Given the description of an element on the screen output the (x, y) to click on. 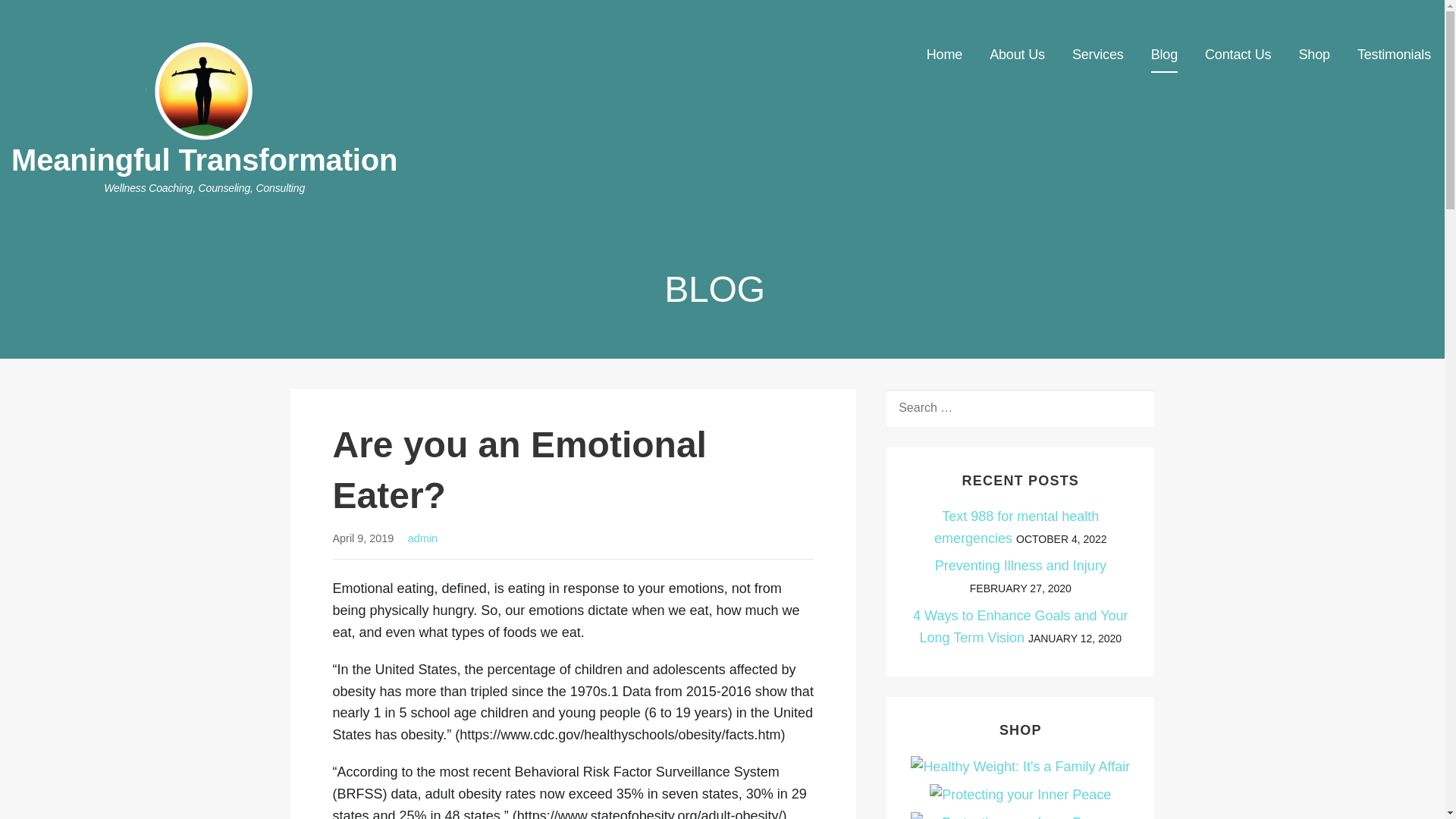
Shop (1313, 55)
Posts by admin (422, 538)
Testimonials (1393, 55)
4 Ways to Enhance Goals and Your Long Term Vision (1020, 626)
Preventing Illness and Injury (1020, 565)
Services (1097, 55)
Get the meditation now! (1020, 815)
Get the book now! (1020, 765)
Search (47, 17)
Get the Book Now! (1020, 794)
